Given the description of an element on the screen output the (x, y) to click on. 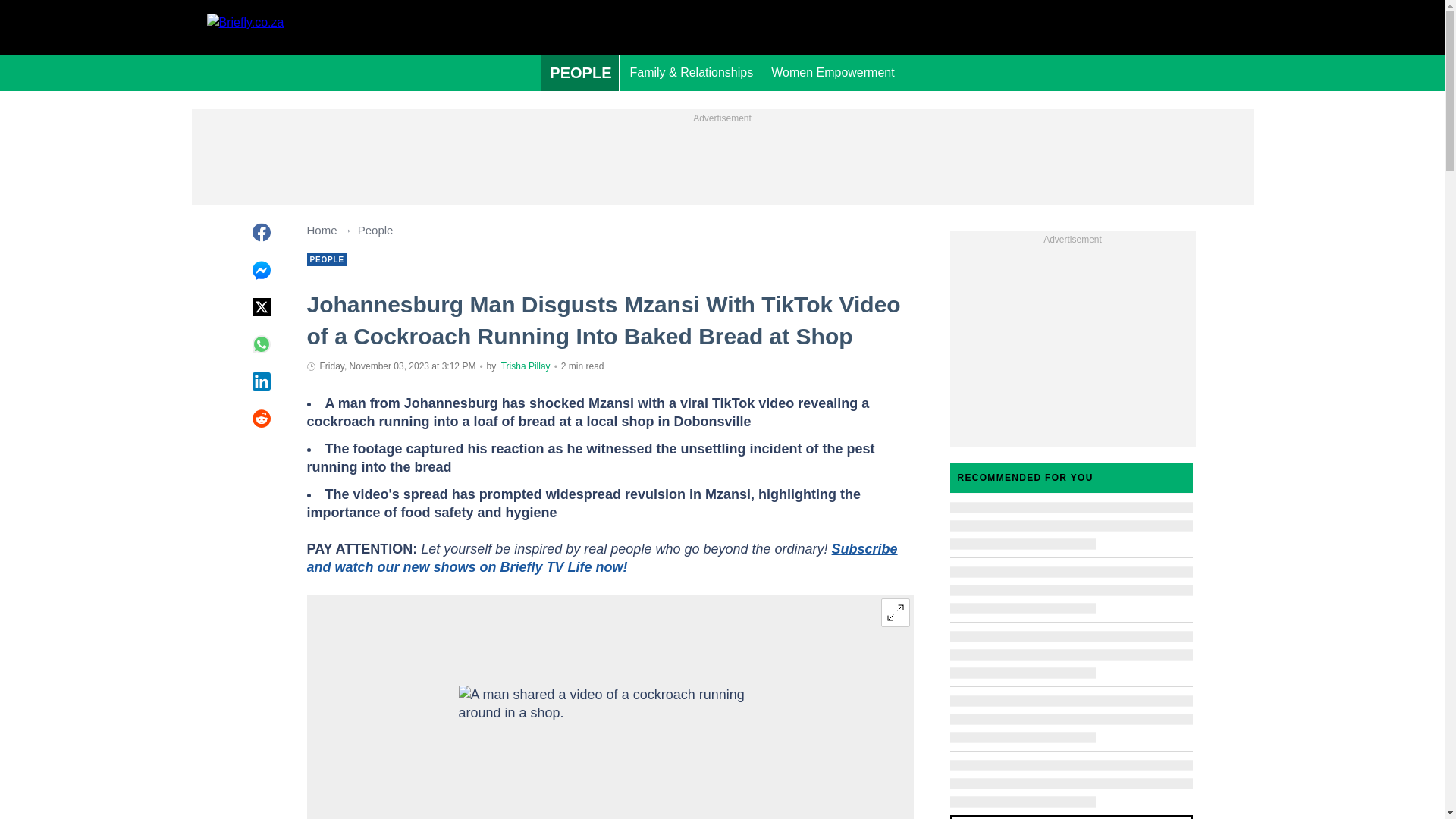
Expand image (895, 612)
Women Empowerment (831, 72)
PEOPLE (580, 72)
Author page (525, 366)
